Given the description of an element on the screen output the (x, y) to click on. 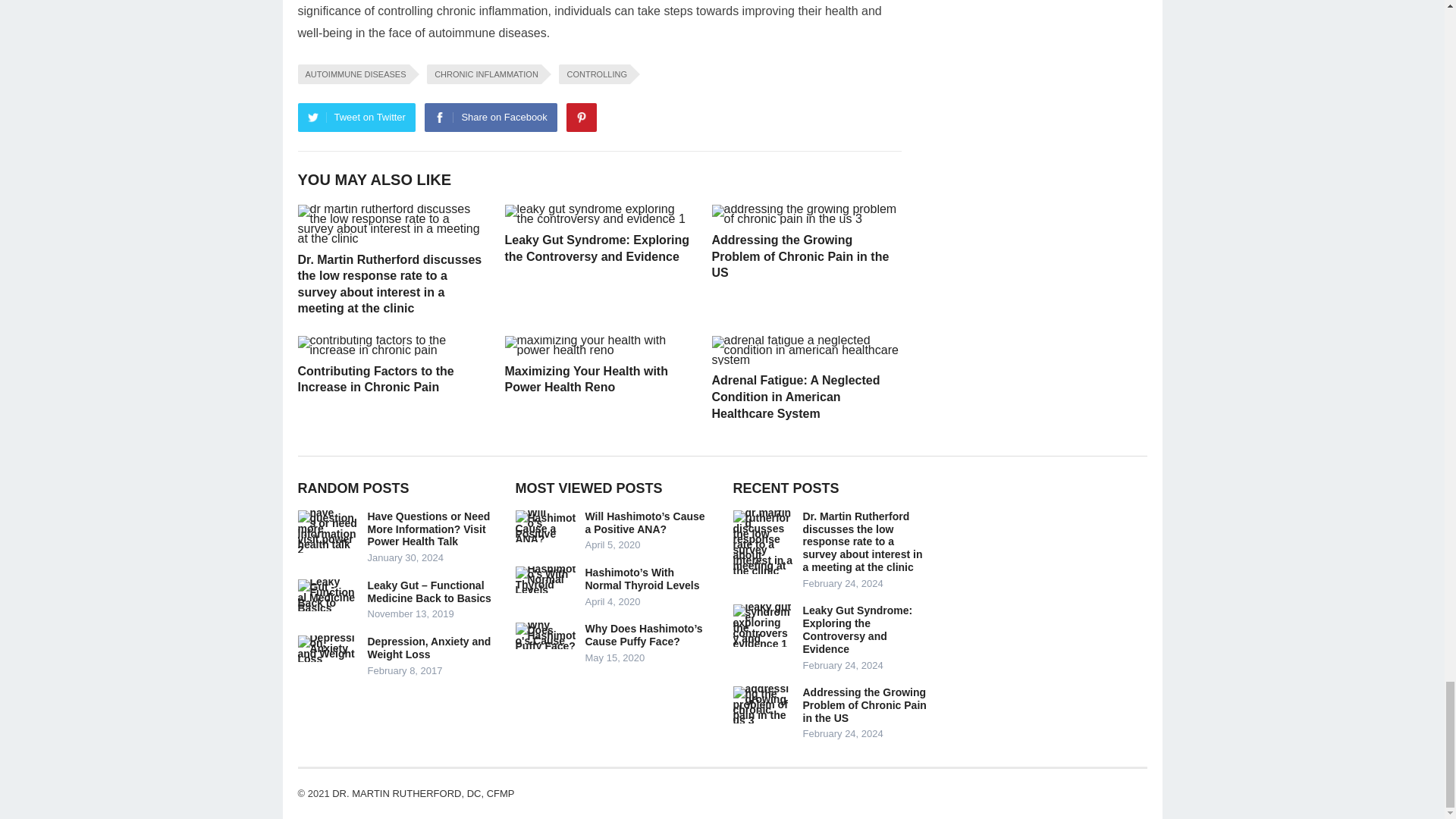
Contributing Factors to the Increase in Chronic Pain 8 (391, 345)
Maximizing Your Health with Power Health Reno 10 (599, 345)
Addressing the Growing Problem of Chronic Pain in the US (799, 256)
Leaky Gut Syndrome: Exploring the Controversy and Evidence 4 (599, 214)
Share on Facebook (490, 117)
Tweet on Twitter (355, 117)
Pinterest (581, 117)
AUTOIMMUNE DISEASES (353, 74)
